Given the description of an element on the screen output the (x, y) to click on. 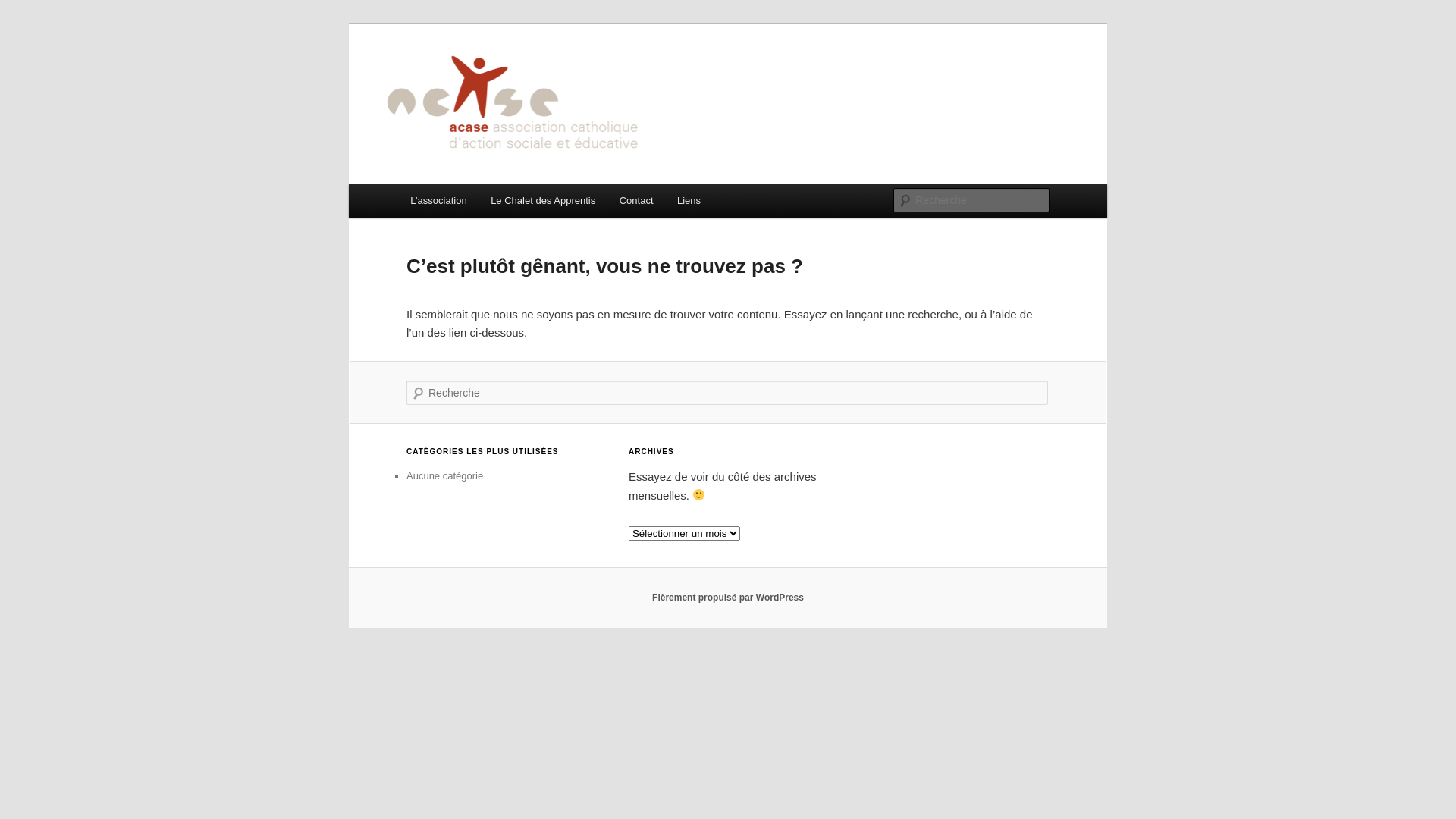
Recherche Element type: text (33, 8)
Liens Element type: text (688, 200)
Contact Element type: text (636, 200)
Aller au contenu principal Element type: text (22, 22)
Le Chalet des Apprentis Element type: text (542, 200)
Acase Element type: text (439, 78)
